Given the description of an element on the screen output the (x, y) to click on. 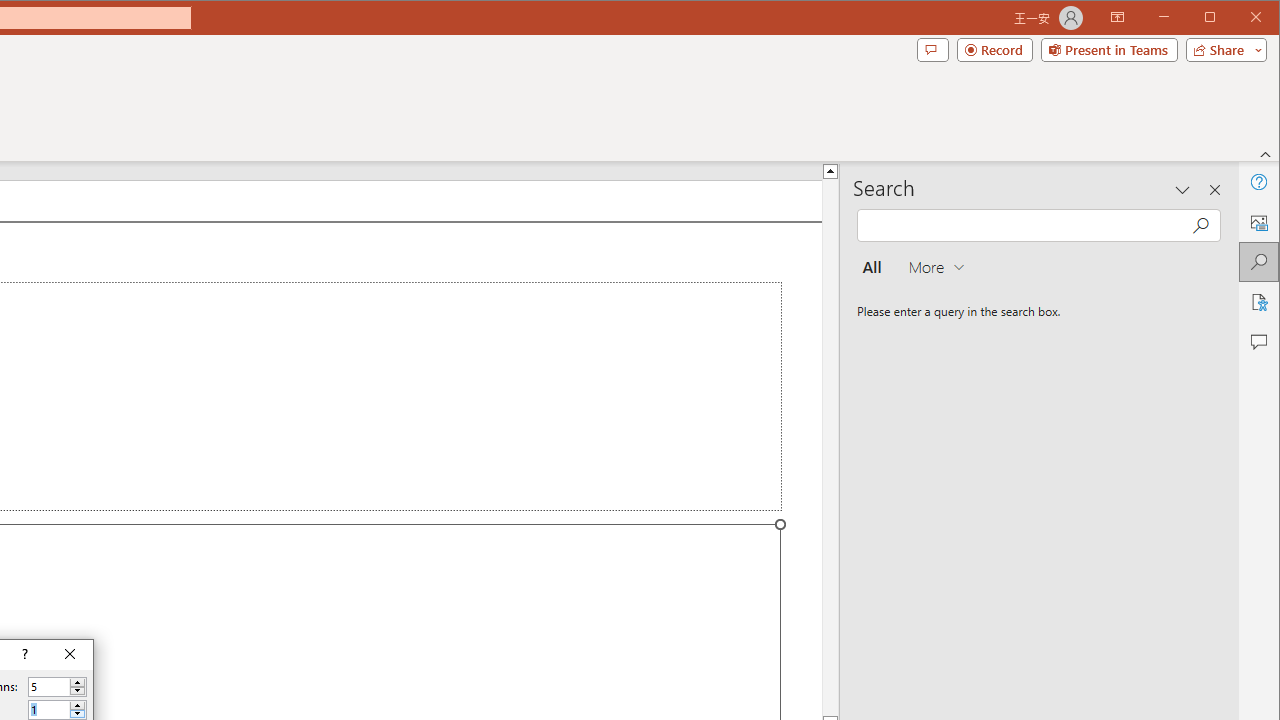
Number of rows (57, 709)
